Given the description of an element on the screen output the (x, y) to click on. 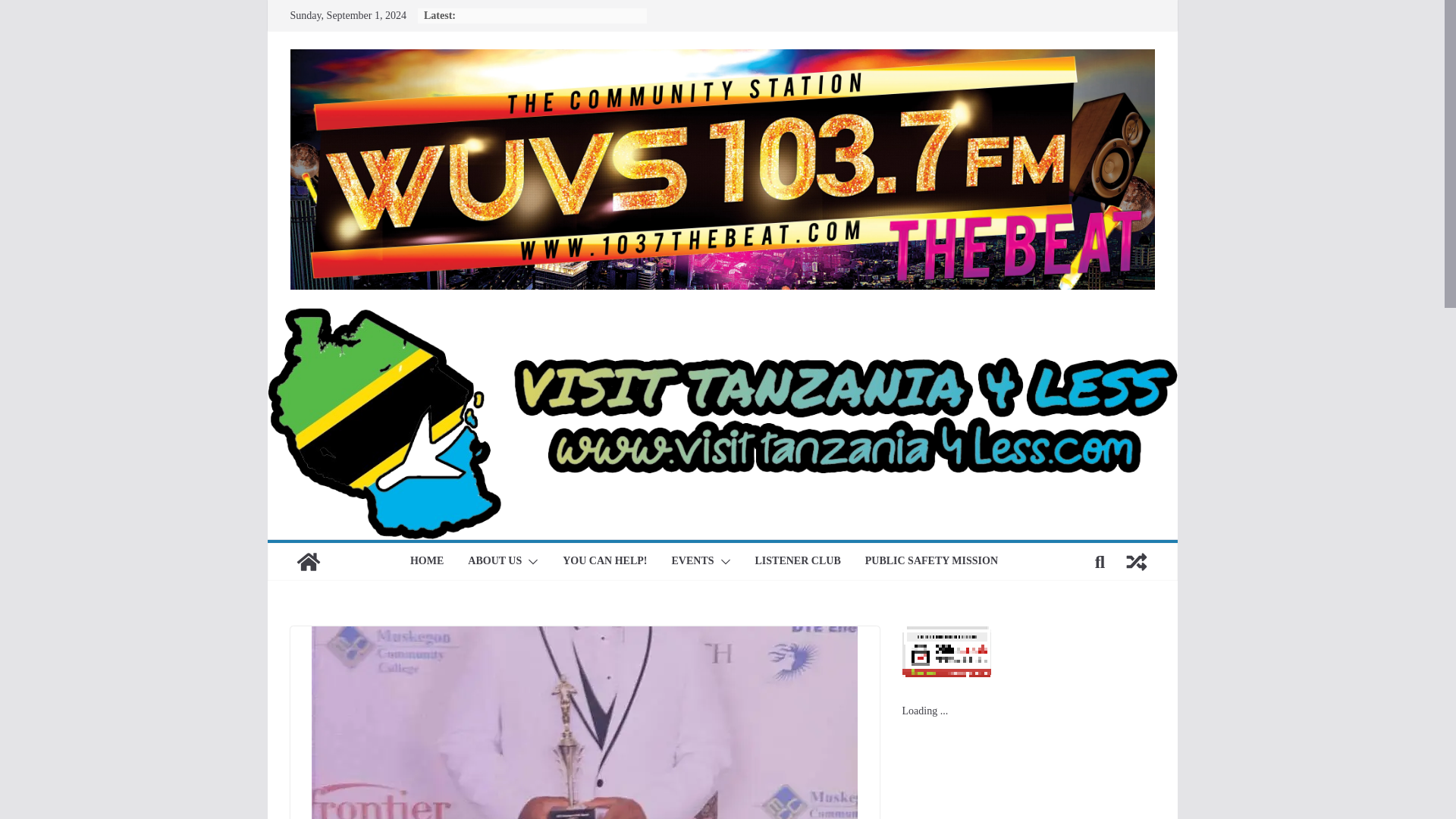
YOU CAN HELP! (604, 561)
EVENTS (692, 561)
WUVS 103.7 The Beat (307, 561)
HOME (427, 561)
ABOUT US (494, 561)
View a random post (1136, 561)
